Given the description of an element on the screen output the (x, y) to click on. 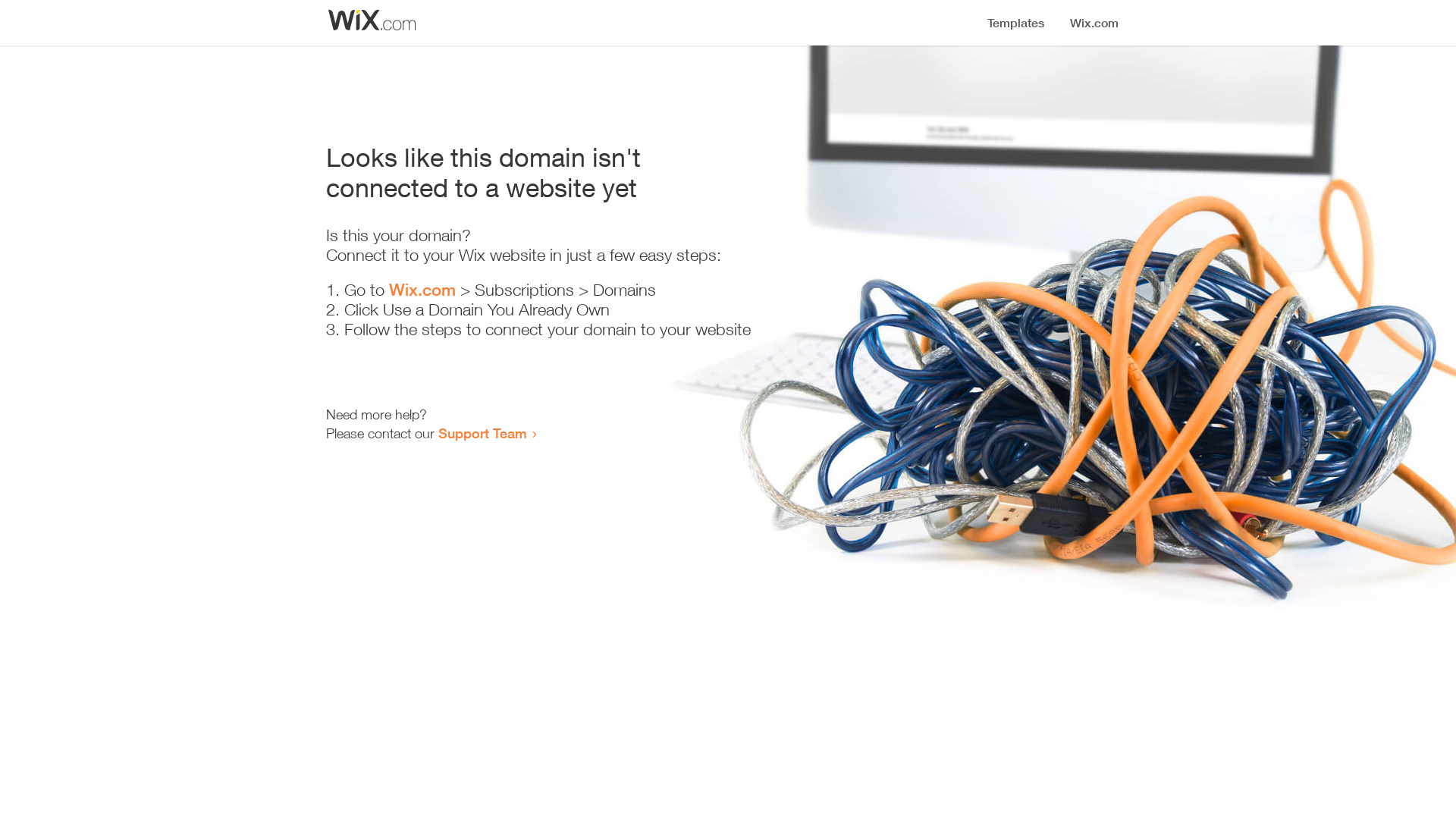
Support Team Element type: text (482, 432)
Wix.com Element type: text (422, 289)
